Given the description of an element on the screen output the (x, y) to click on. 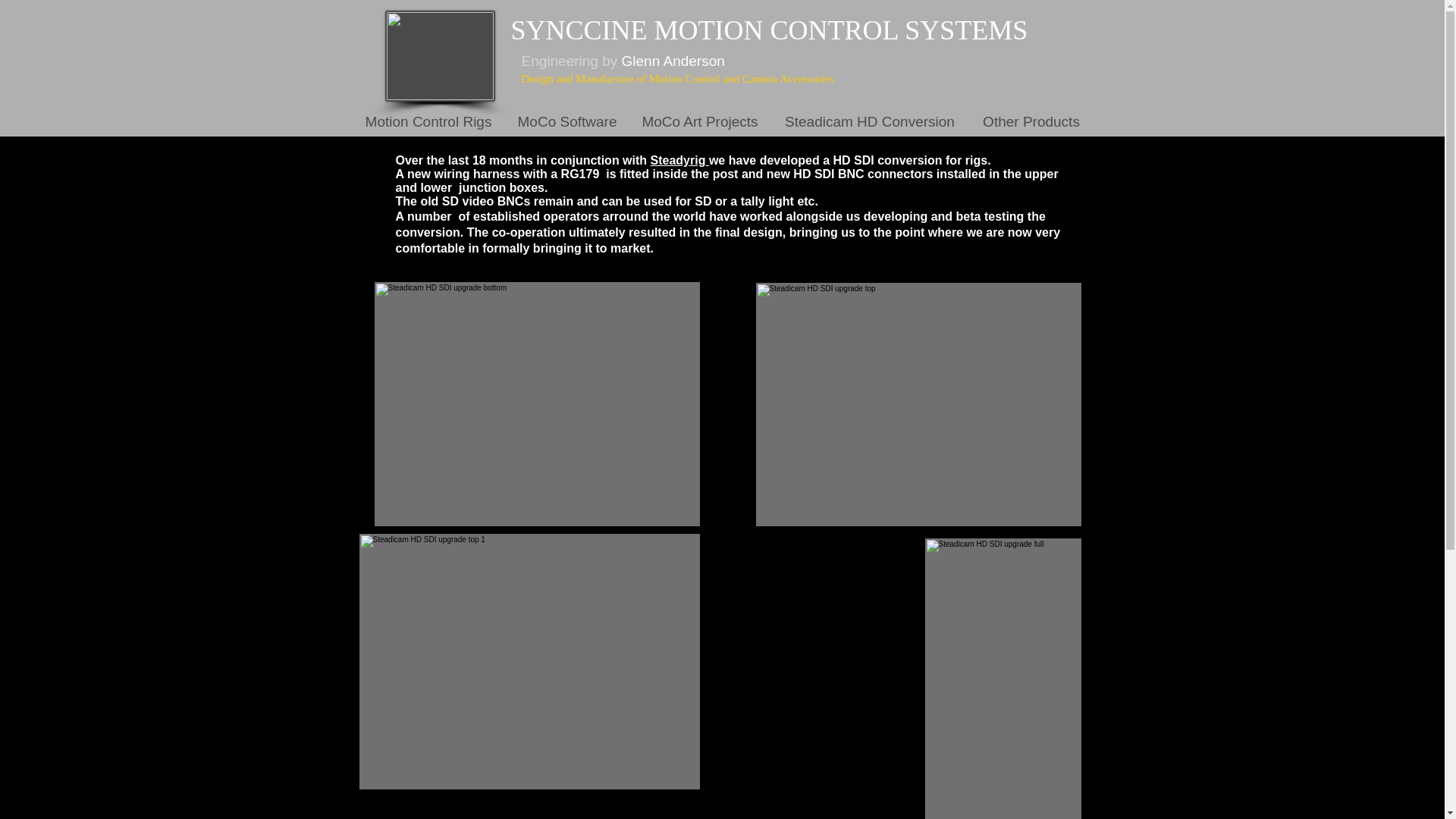
Steadicam HD SDI upgrade bottom.jpg (537, 403)
Steadicam HD SDI upgrade top 1 (529, 661)
MoCo Art Projects (699, 121)
Steadicam HD SDI upgrade full (1002, 678)
Motion Control Rigs (428, 121)
Steadicam HD SDI upgrade top.jpg (917, 404)
Other Products (1031, 121)
MoCo Software (566, 121)
Steadicam HD Conversion (869, 121)
Steadyrig (679, 160)
